Given the description of an element on the screen output the (x, y) to click on. 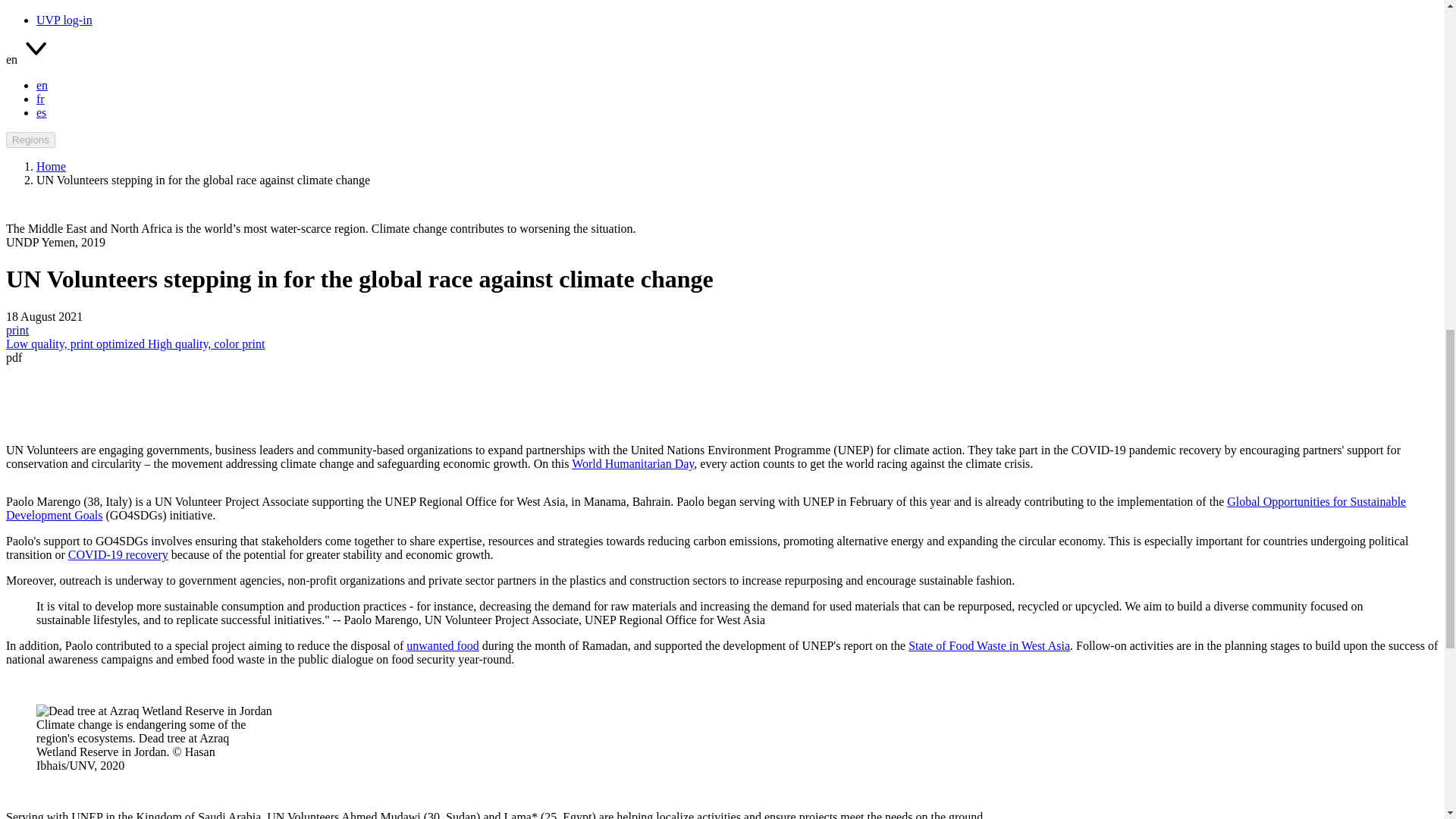
Share to Email (776, 404)
Share to Facebook (667, 404)
Share to Linkedin (740, 404)
down (35, 51)
Share to X (703, 404)
